Given the description of an element on the screen output the (x, y) to click on. 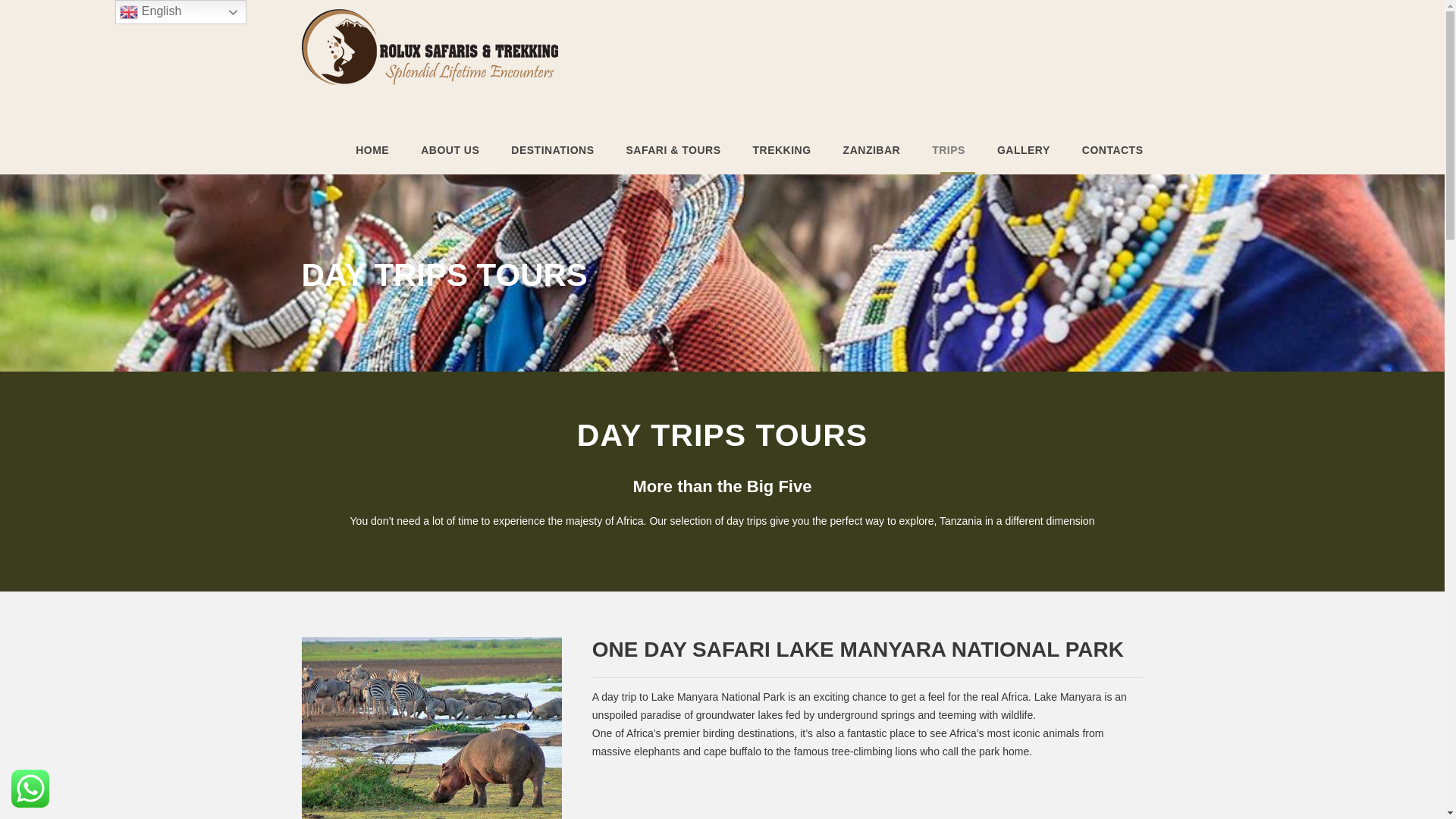
logo (429, 47)
HOME (371, 157)
ONE-DAY-SAFARI-LAKE-MANYARA-NATIONAL-PARK (431, 728)
